Given the description of an element on the screen output the (x, y) to click on. 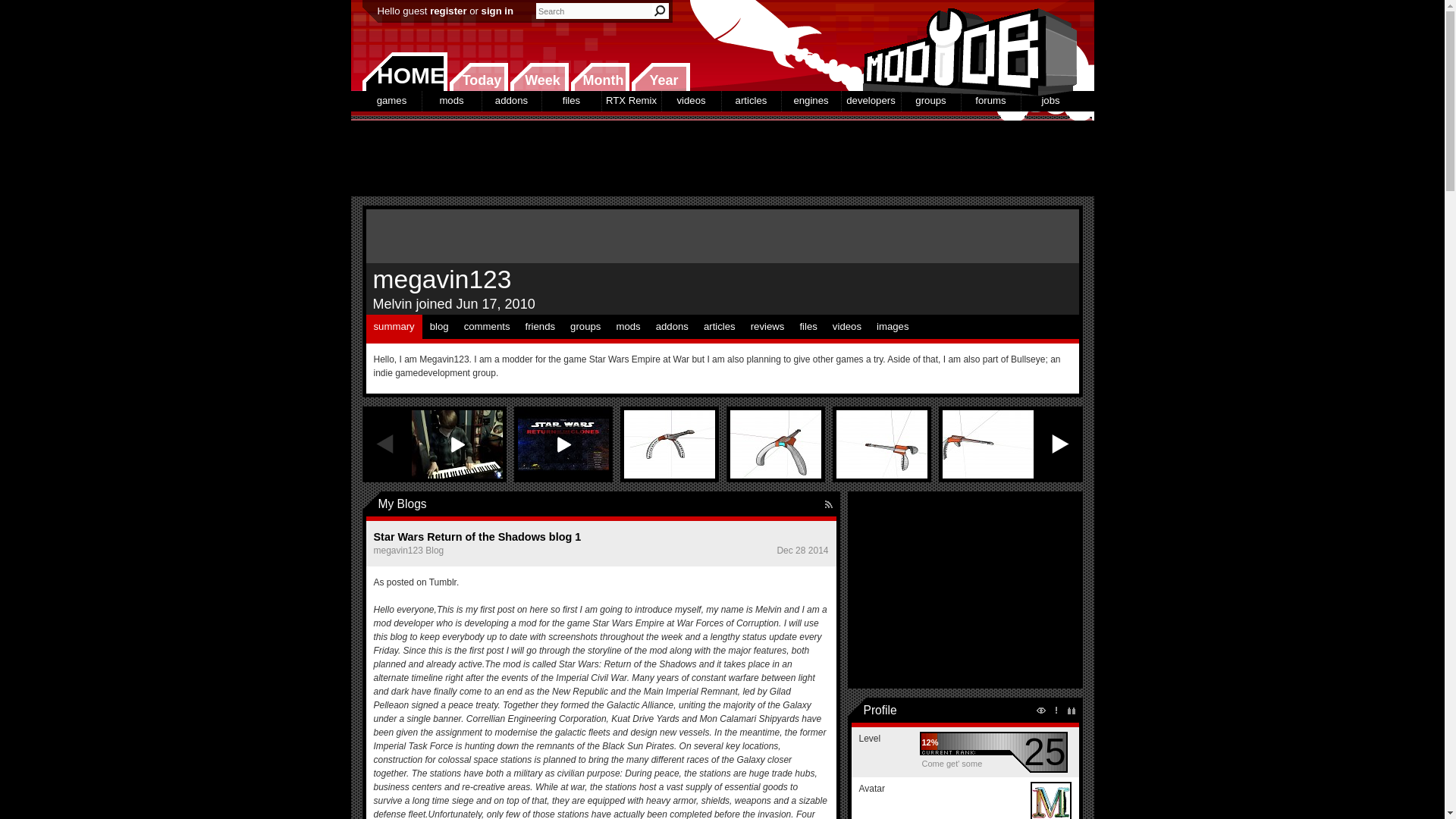
Search (660, 10)
register (447, 10)
Week (539, 76)
HOME (405, 71)
RTX Remix (631, 100)
sign in (497, 10)
3rd party ad content (721, 158)
Hapan Nova-Class Battlecruiser (987, 444)
New this year (660, 76)
addons (511, 100)
files (570, 100)
Search ModDB (660, 10)
New this week (539, 76)
New this month (599, 76)
Hapan Nova-Class Battlecruiser (668, 444)
